Given the description of an element on the screen output the (x, y) to click on. 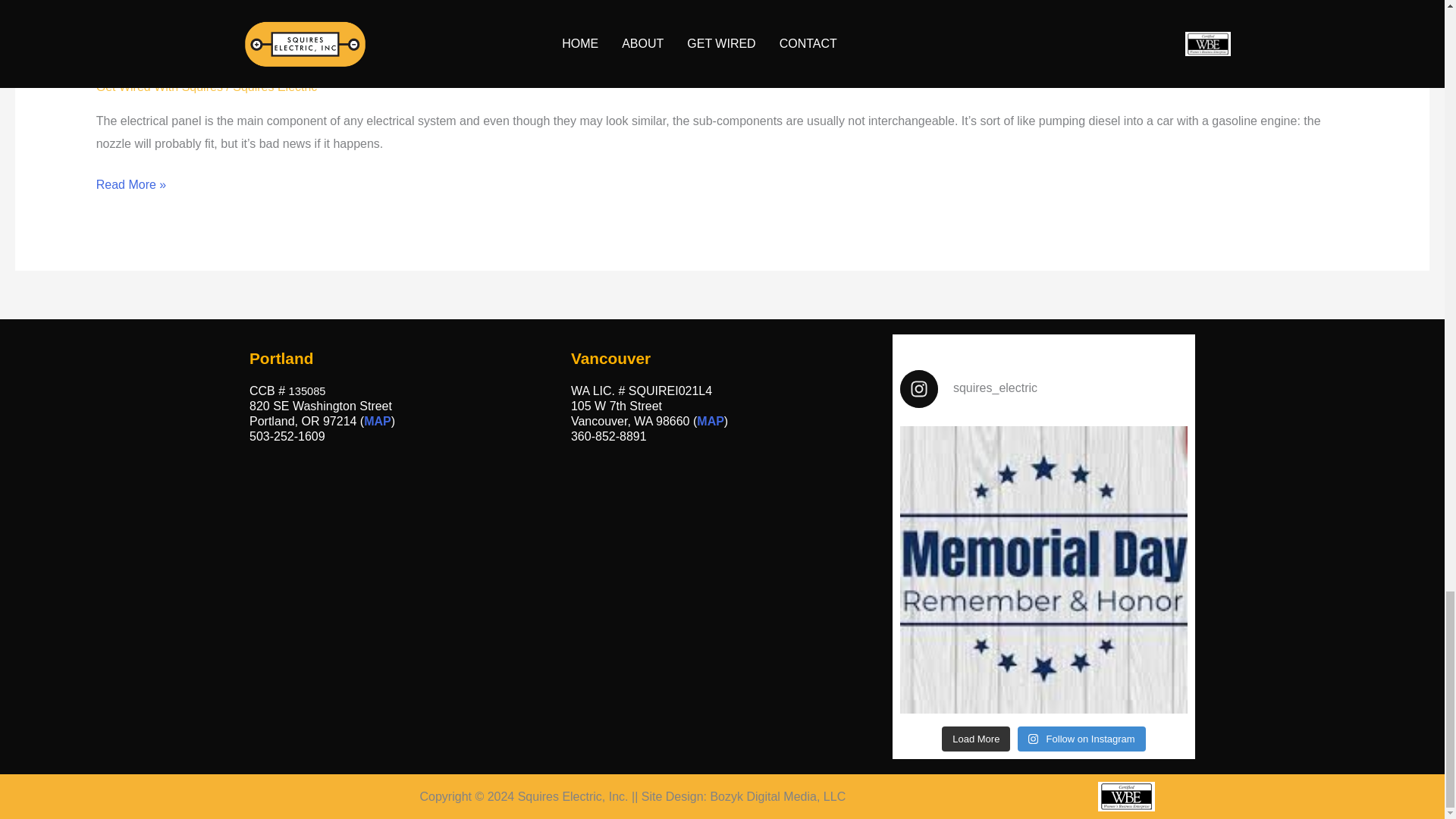
View all posts by Squires Electric (274, 86)
Get Wired With Squires (159, 86)
820 SE Washington Street Portland, OR 97214 (390, 613)
Squires Electric (274, 86)
GET WIRED: BREAKER BRANDS (271, 58)
105 W 7th Street Vancouver, WA 98660 (712, 613)
MAP (710, 420)
MAP (377, 420)
